Given the description of an element on the screen output the (x, y) to click on. 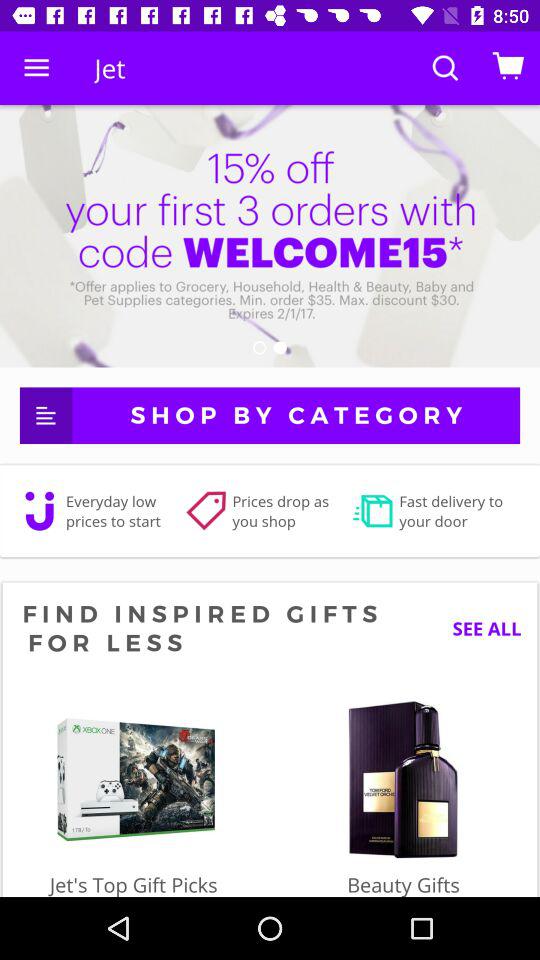
turn on the icon next to jet item (36, 68)
